Given the description of an element on the screen output the (x, y) to click on. 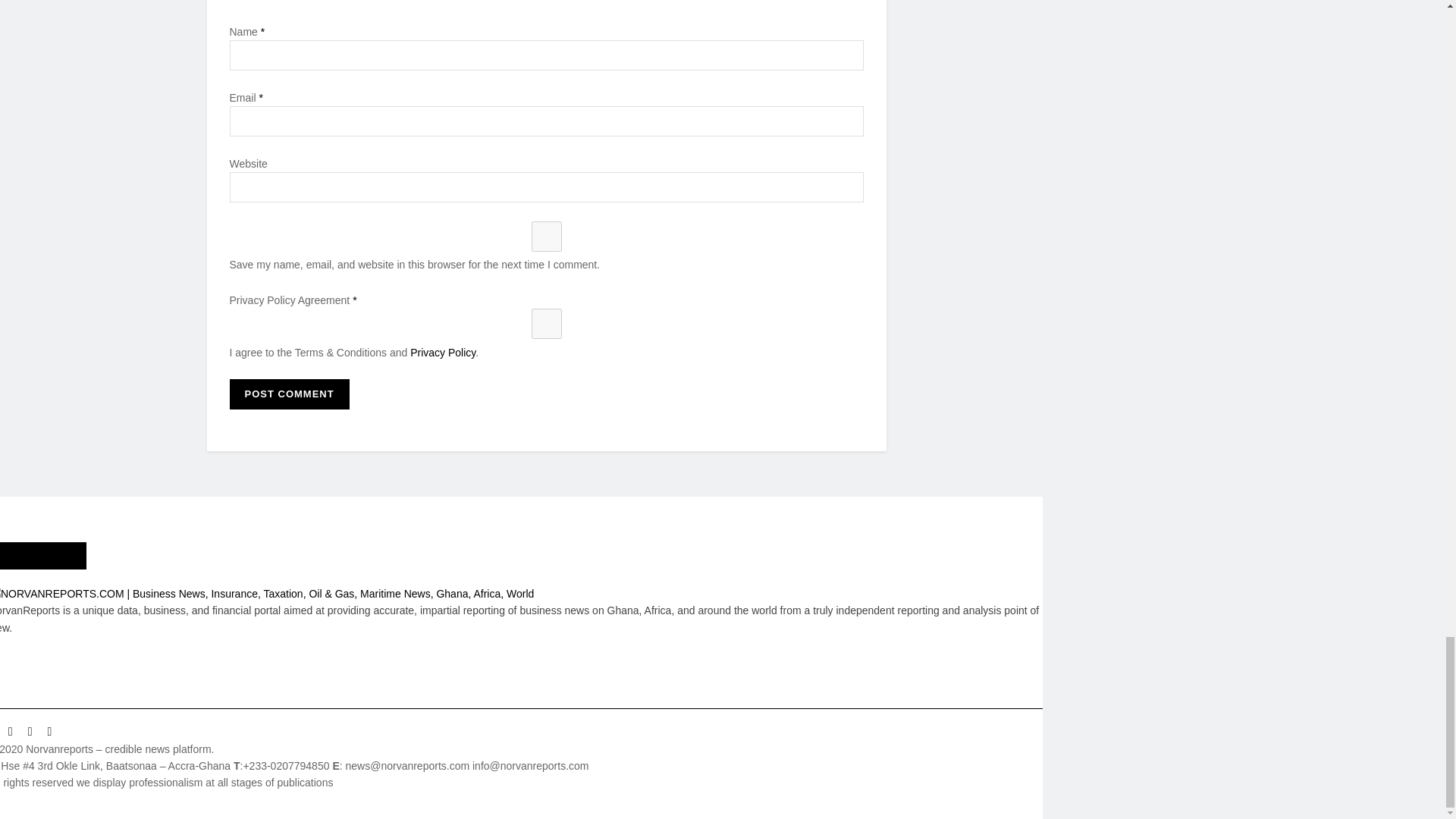
yes (545, 236)
Post Comment (288, 394)
on (545, 323)
